Given the description of an element on the screen output the (x, y) to click on. 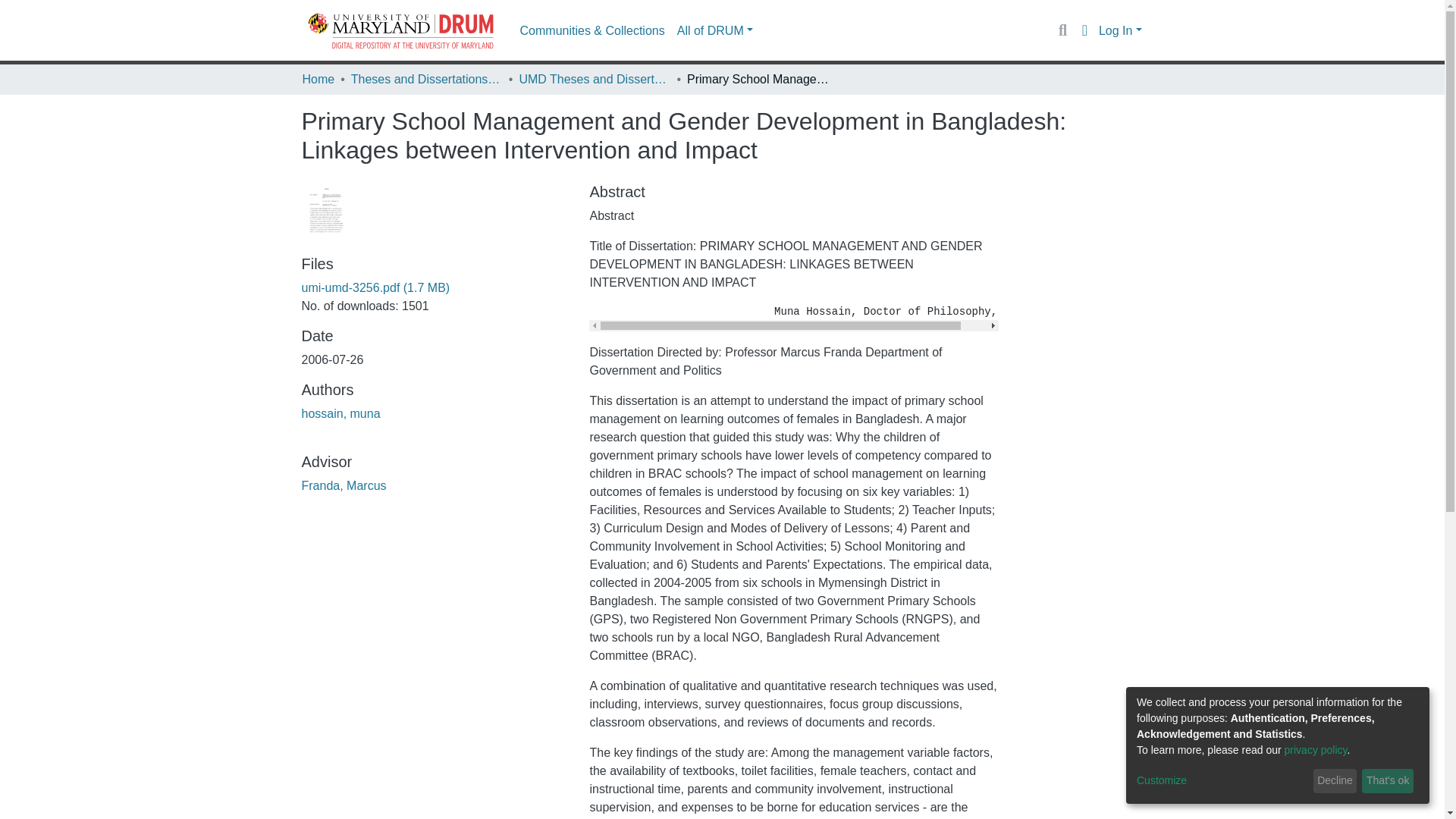
Log In (1119, 30)
Franda, Marcus (344, 485)
Home (317, 79)
Language switch (1084, 30)
UMD Theses and Dissertations (593, 79)
Search (1061, 30)
Customize (1222, 780)
All of DRUM (714, 30)
privacy policy (1316, 749)
Theses and Dissertations from UMD (426, 79)
hossain, muna (340, 413)
